Given the description of an element on the screen output the (x, y) to click on. 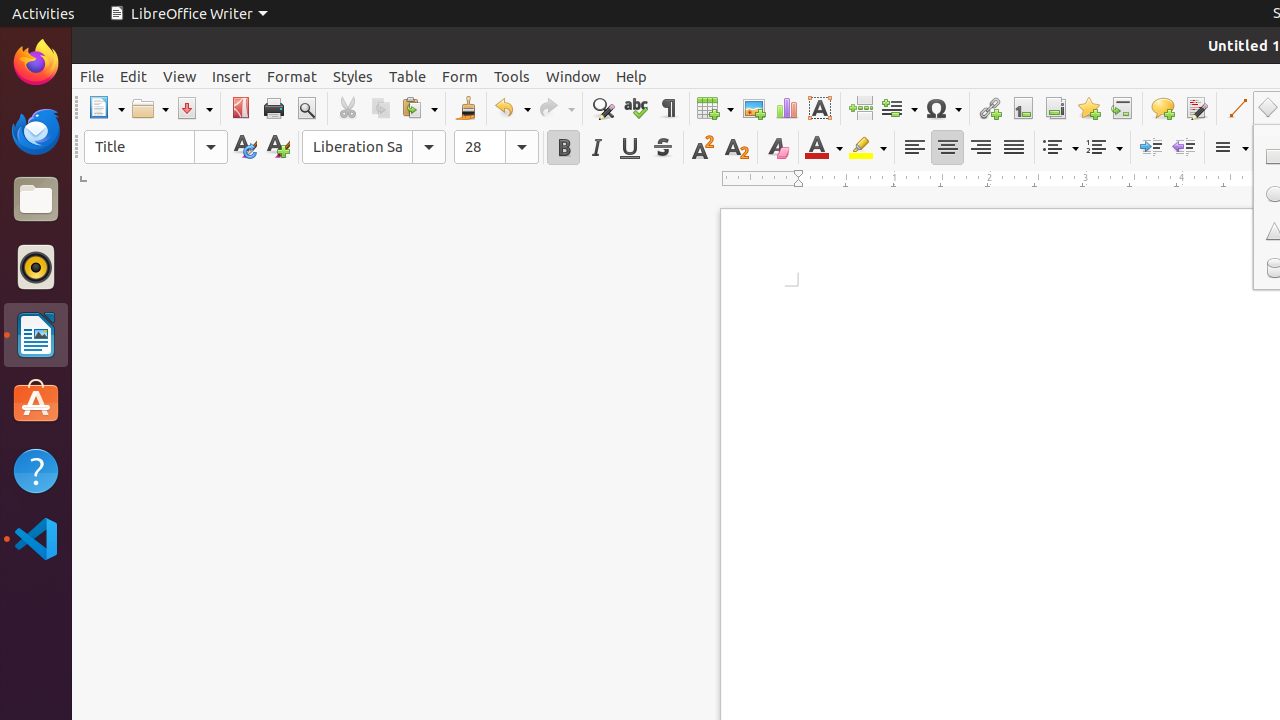
Cut Element type: push-button (347, 108)
Rhythmbox Element type: push-button (36, 267)
Justified Element type: toggle-button (1013, 147)
Underline Element type: push-button (629, 147)
Bullets Element type: push-button (1060, 147)
